Given the description of an element on the screen output the (x, y) to click on. 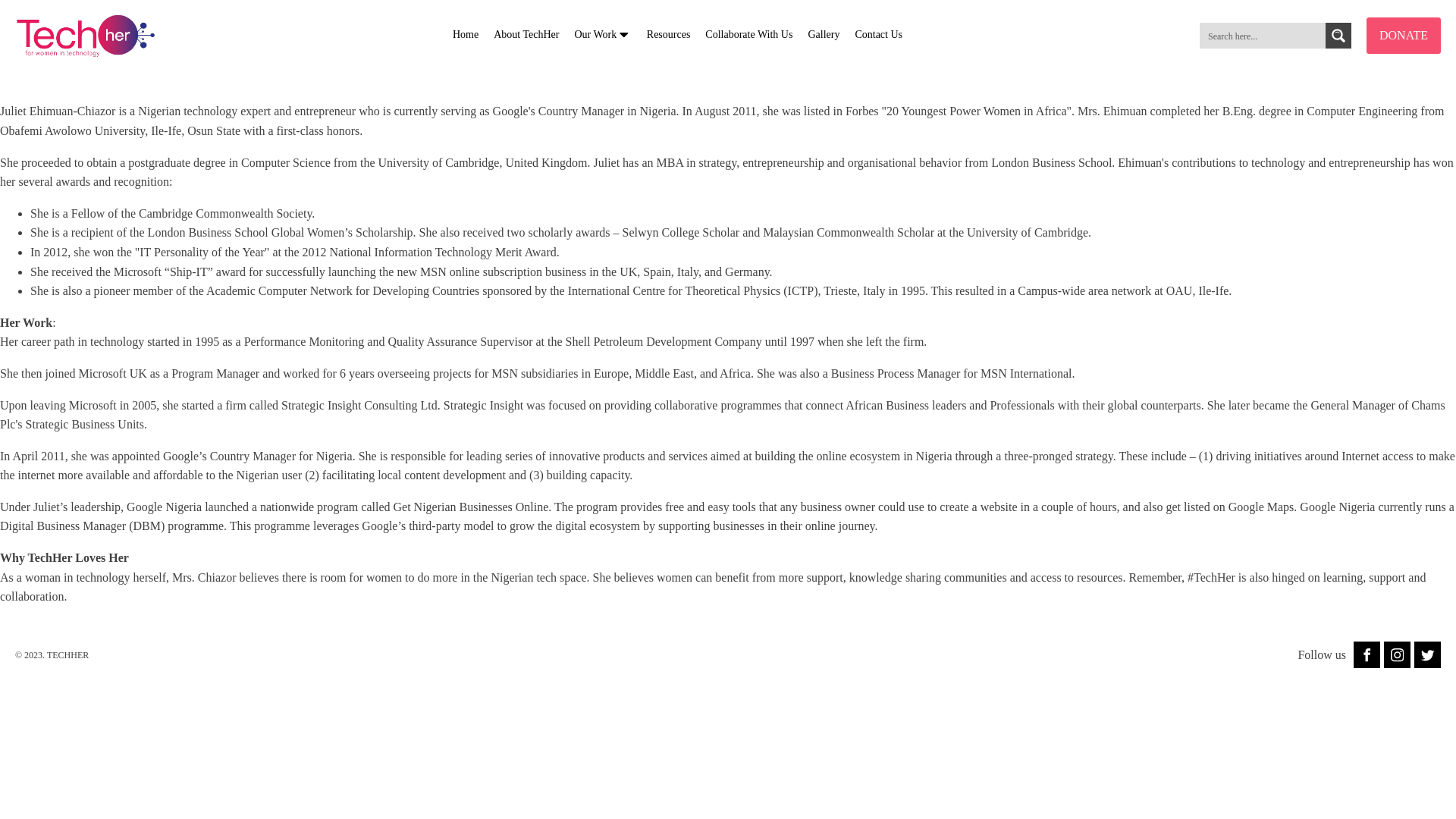
Collaborate With Us (748, 35)
DONATE (1404, 35)
Our Work (602, 35)
Resources (668, 35)
About TechHer (526, 35)
Contact Us (878, 35)
